Given the description of an element on the screen output the (x, y) to click on. 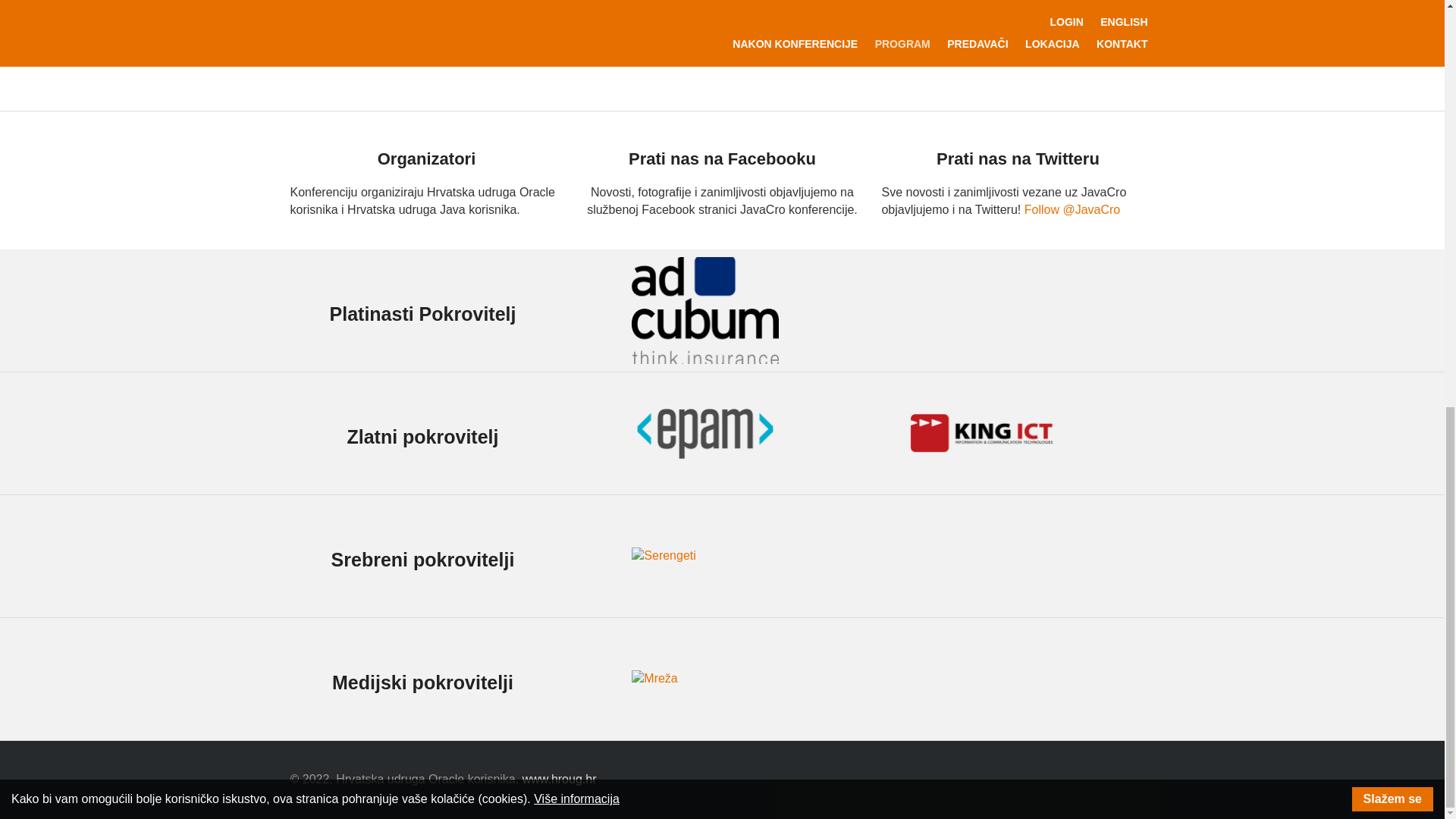
Povratak na program (721, 48)
Adcubum (704, 310)
EPAM System (704, 433)
Serengeti (663, 556)
www.hroug.hr (559, 779)
KING ICT (981, 433)
